Given the description of an element on the screen output the (x, y) to click on. 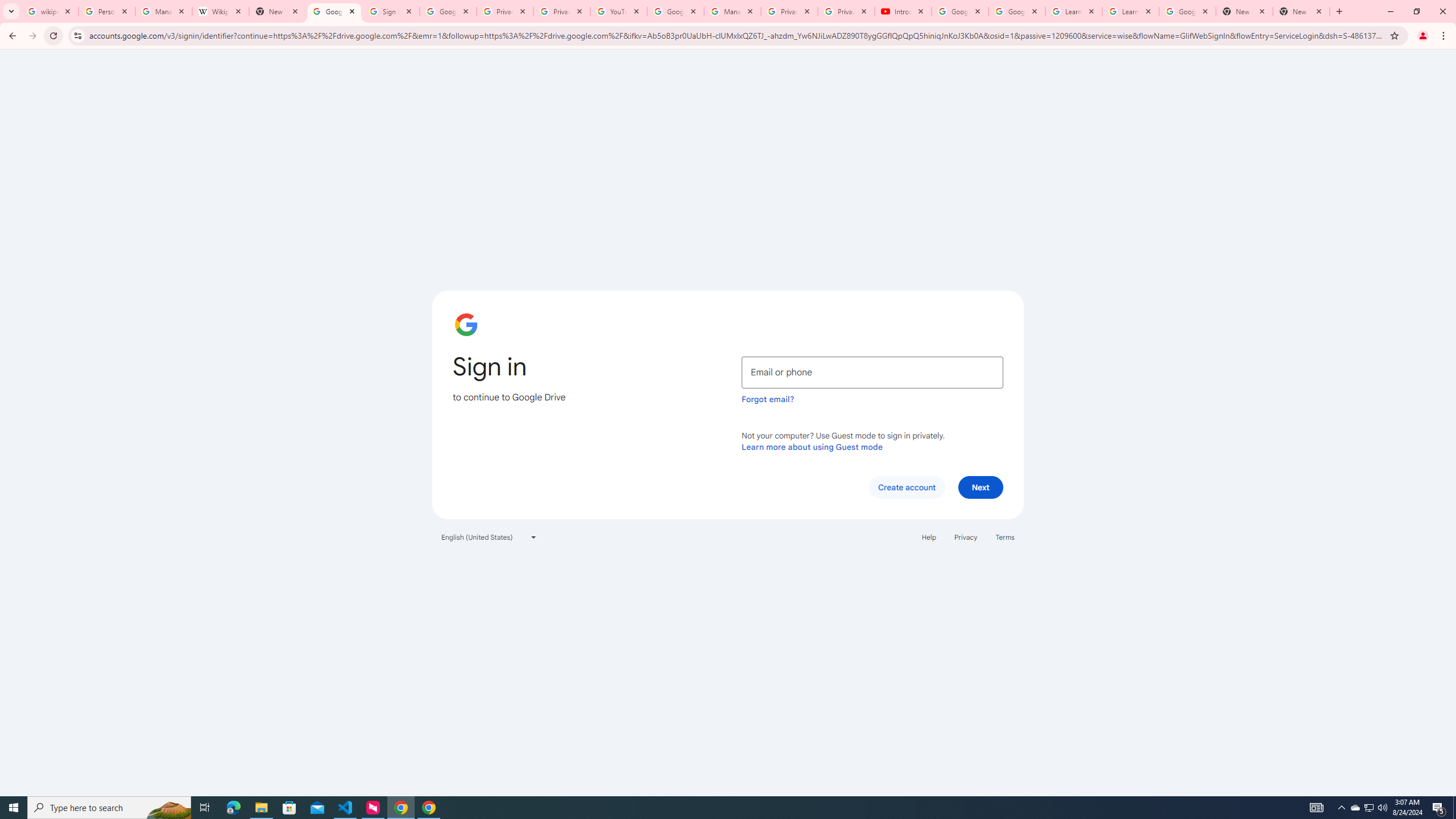
Google Account Help (959, 11)
English (United States) (489, 536)
New Tab (1244, 11)
Manage your Location History - Google Search Help (163, 11)
Forgot email? (767, 398)
Google Account (1187, 11)
